Given the description of an element on the screen output the (x, y) to click on. 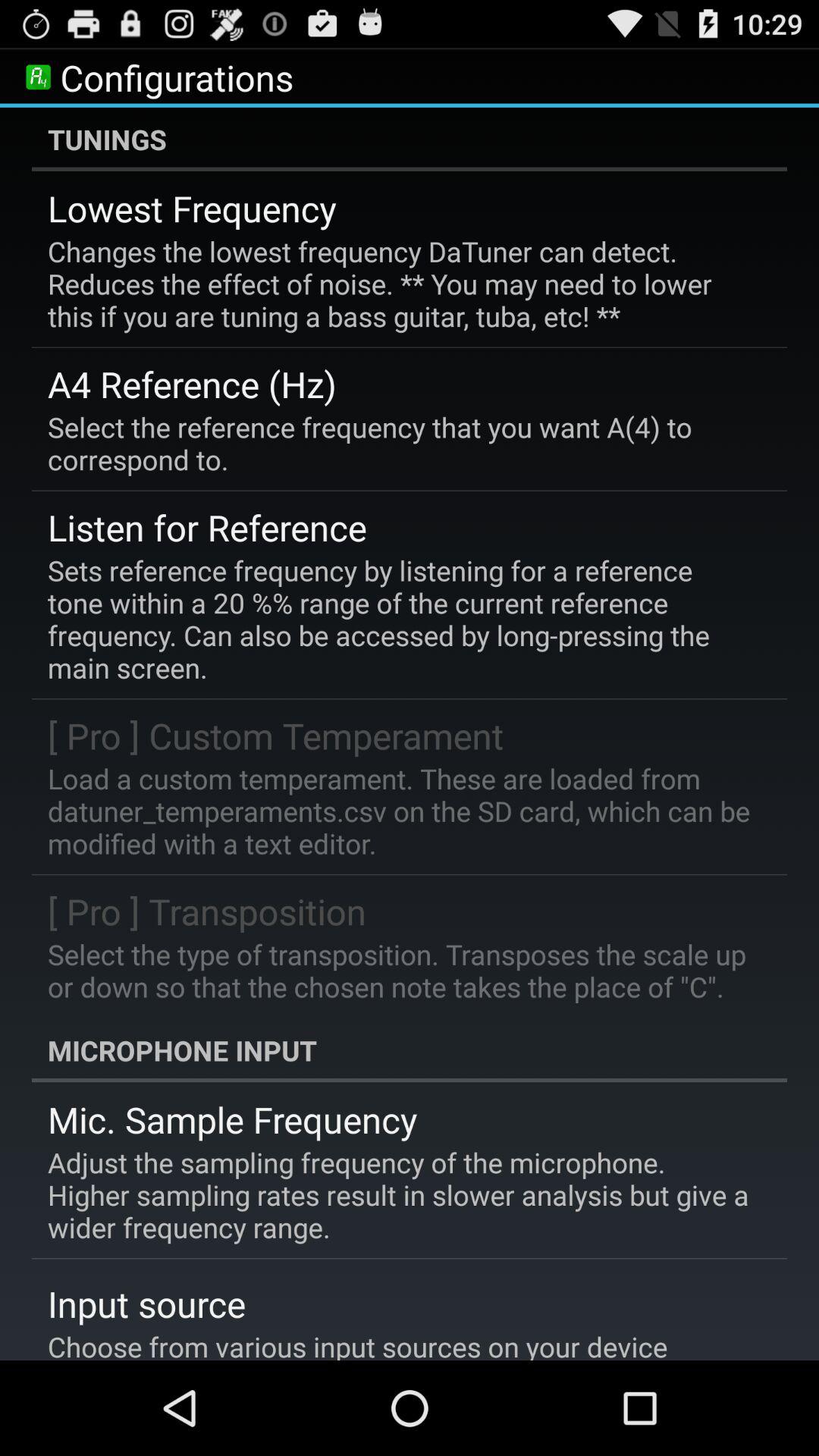
launch the changes the lowest (399, 283)
